Given the description of an element on the screen output the (x, y) to click on. 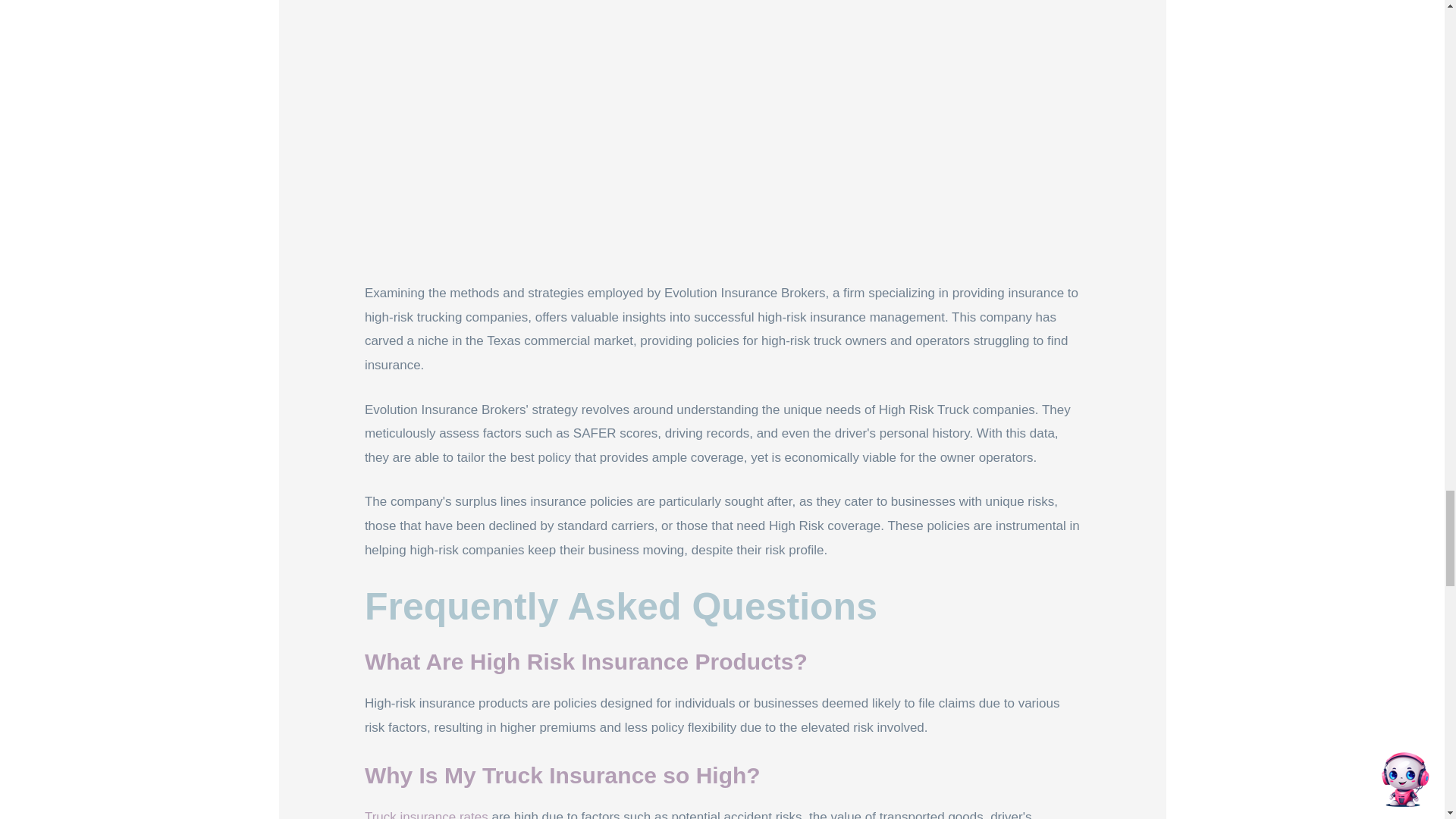
Truck Insurance Rates (426, 814)
Truck insurance rates (426, 814)
